Given the description of an element on the screen output the (x, y) to click on. 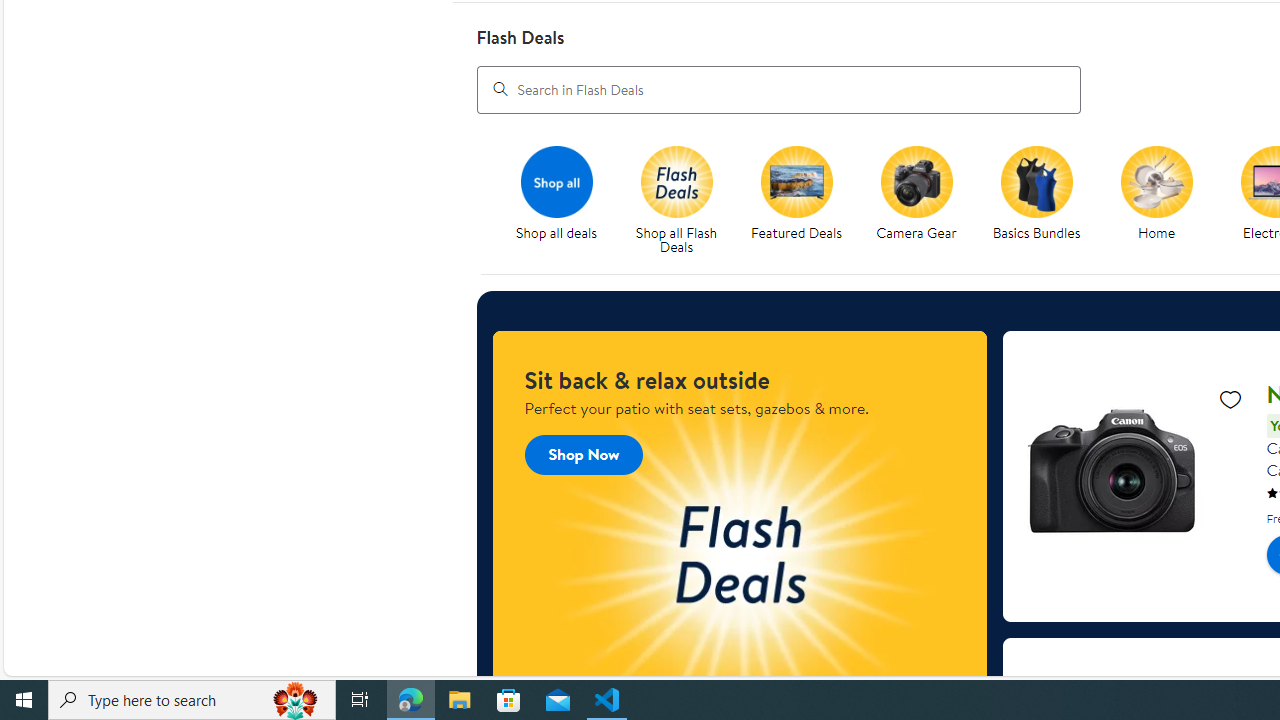
Flash Deals (676, 181)
Featured Deals (796, 181)
Home Home (1156, 194)
Flash Deals Shop all Flash Deals (676, 200)
Shop all deals (564, 200)
Featured Deals Featured Deals (795, 194)
Shop all Flash Deals (684, 200)
Camera Gear Camera Gear (916, 194)
Basics Bundles (1044, 200)
Featured Deals (804, 200)
Basics Bundles (1035, 181)
Search in Flash Deals (778, 88)
